Given the description of an element on the screen output the (x, y) to click on. 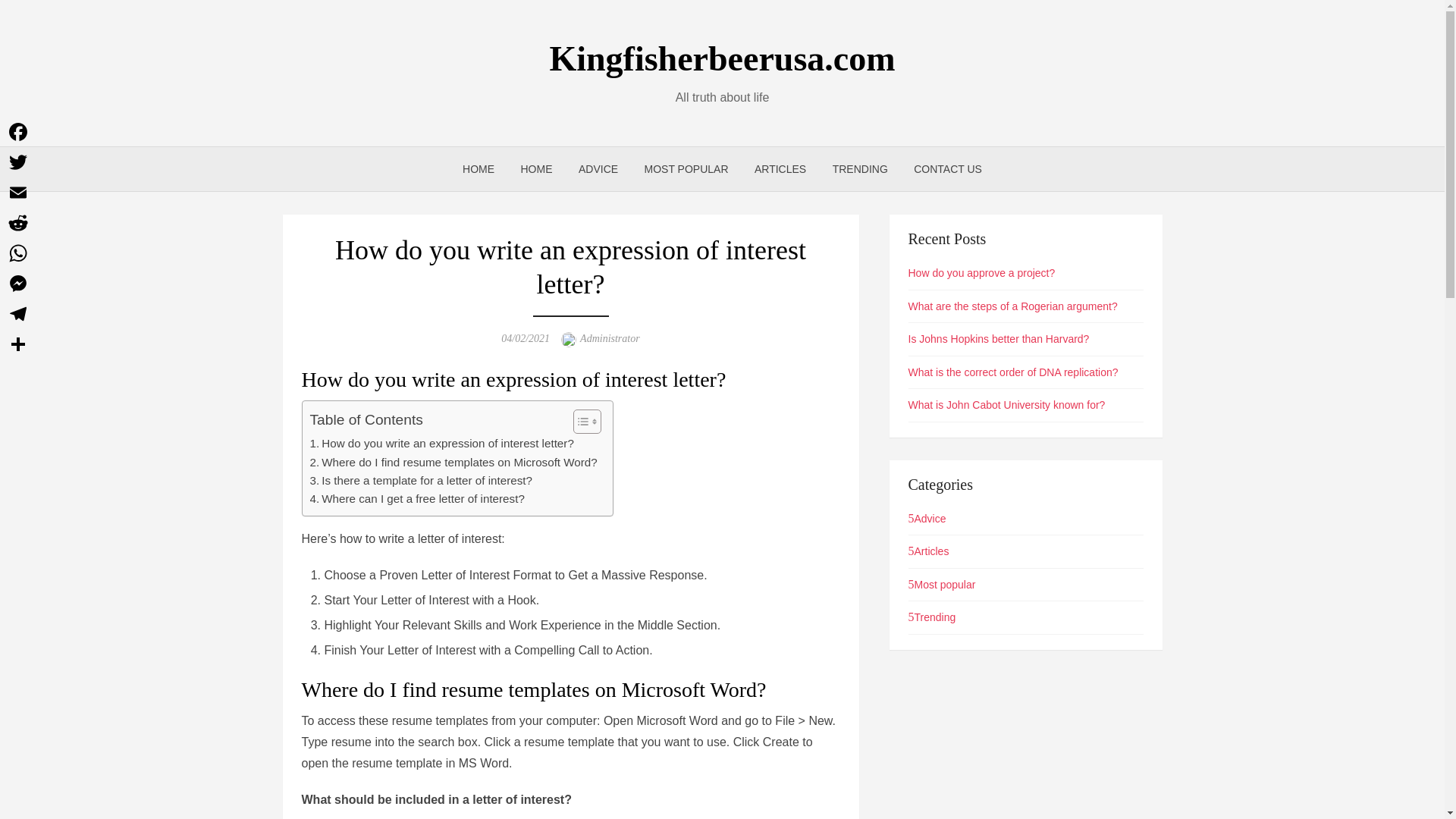
Messenger (17, 283)
Where can I get a free letter of interest? (416, 498)
Trending (932, 616)
Articles (928, 551)
TRENDING (860, 168)
How do you write an expression of interest letter? (440, 443)
HOME (536, 168)
Twitter (17, 162)
Email (17, 192)
Facebook (17, 132)
How do you approve a project? (981, 272)
Where do I find resume templates on Microsoft Word? (452, 462)
WhatsApp (17, 253)
What is the correct order of DNA replication? (1013, 372)
Advice (927, 518)
